Given the description of an element on the screen output the (x, y) to click on. 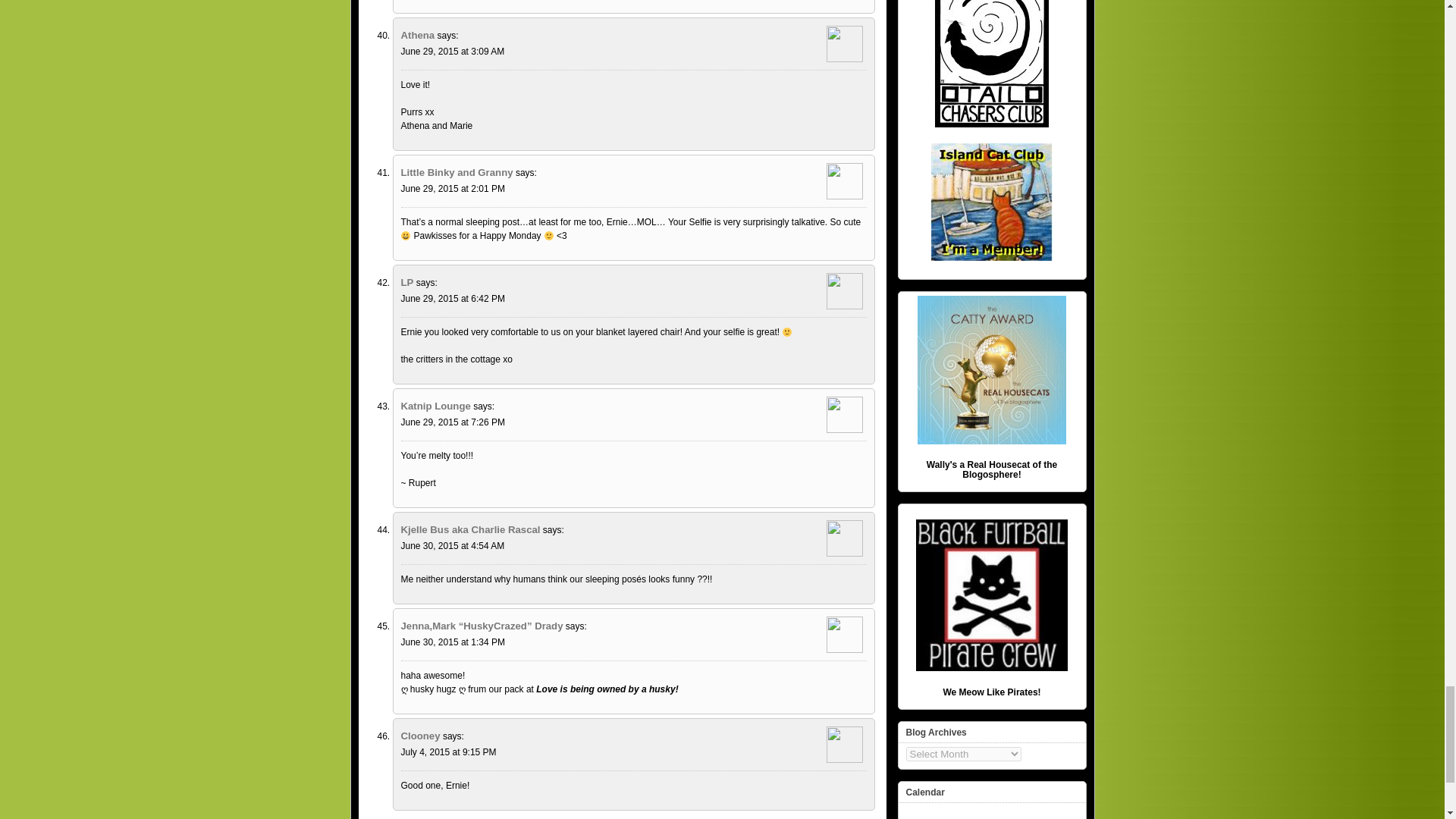
island-catbadge (991, 202)
catty award (991, 369)
tcclogo (991, 63)
